Given the description of an element on the screen output the (x, y) to click on. 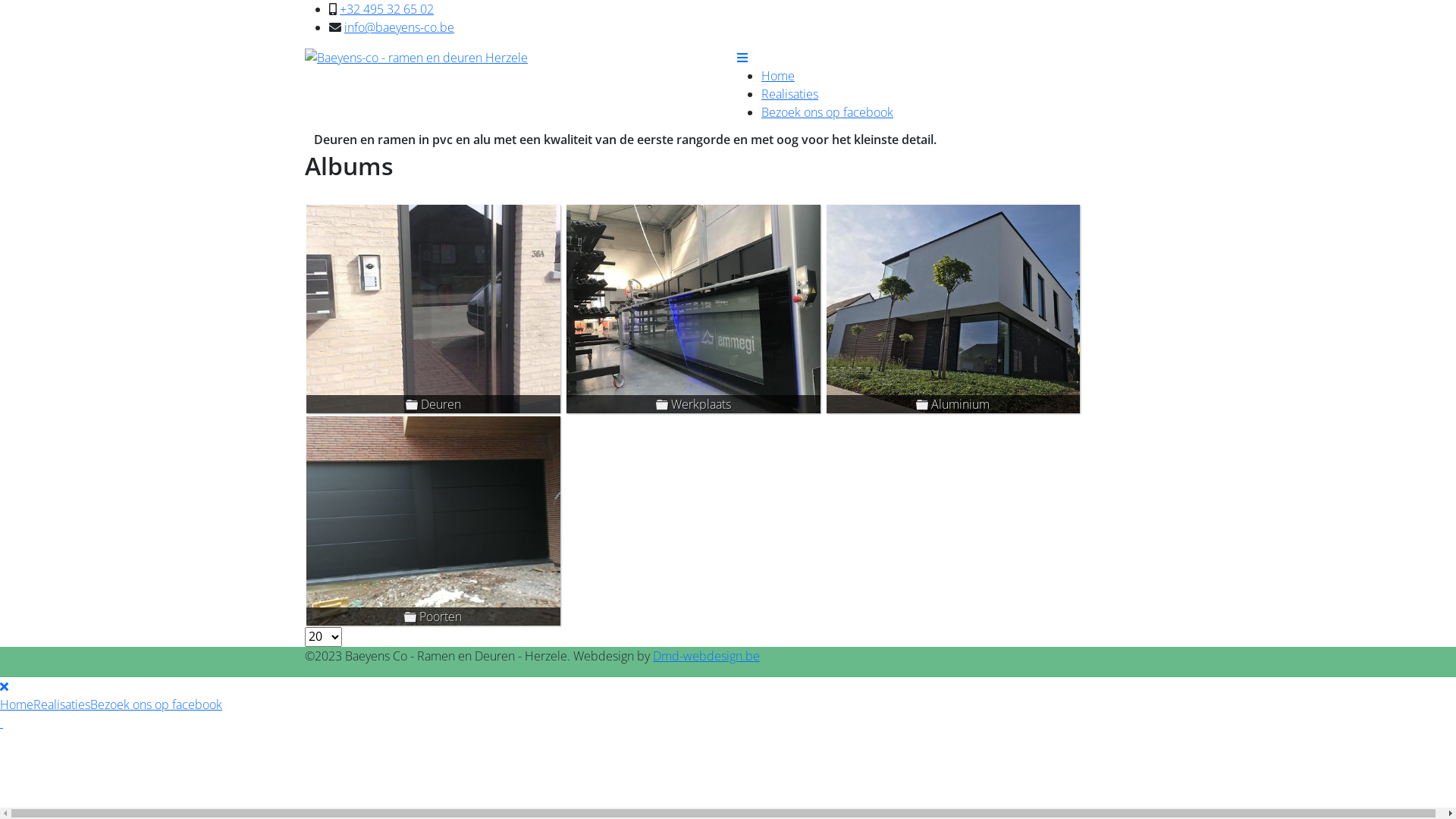
  Element type: text (1, 722)
Dmd-webdesign.be Element type: text (705, 655)
Realisaties Element type: text (789, 93)
Close Element type: hover (4, 686)
Bezoek ons op facebook Element type: text (827, 111)
+32 495 32 65 02 Element type: text (386, 8)
Home Element type: text (16, 704)
  Werkplaats
  Element type: text (693, 308)
Bezoek ons op facebook Element type: text (156, 704)
  Aluminium
  Element type: text (953, 308)
Realisaties Element type: text (61, 704)
info@baeyens-co.be Element type: text (399, 26)
Helix3 Megamenu Options Element type: hover (742, 57)
Home Element type: text (777, 75)
  Poorten
  Element type: text (433, 520)
  Deuren
  Element type: text (433, 308)
